Given the description of an element on the screen output the (x, y) to click on. 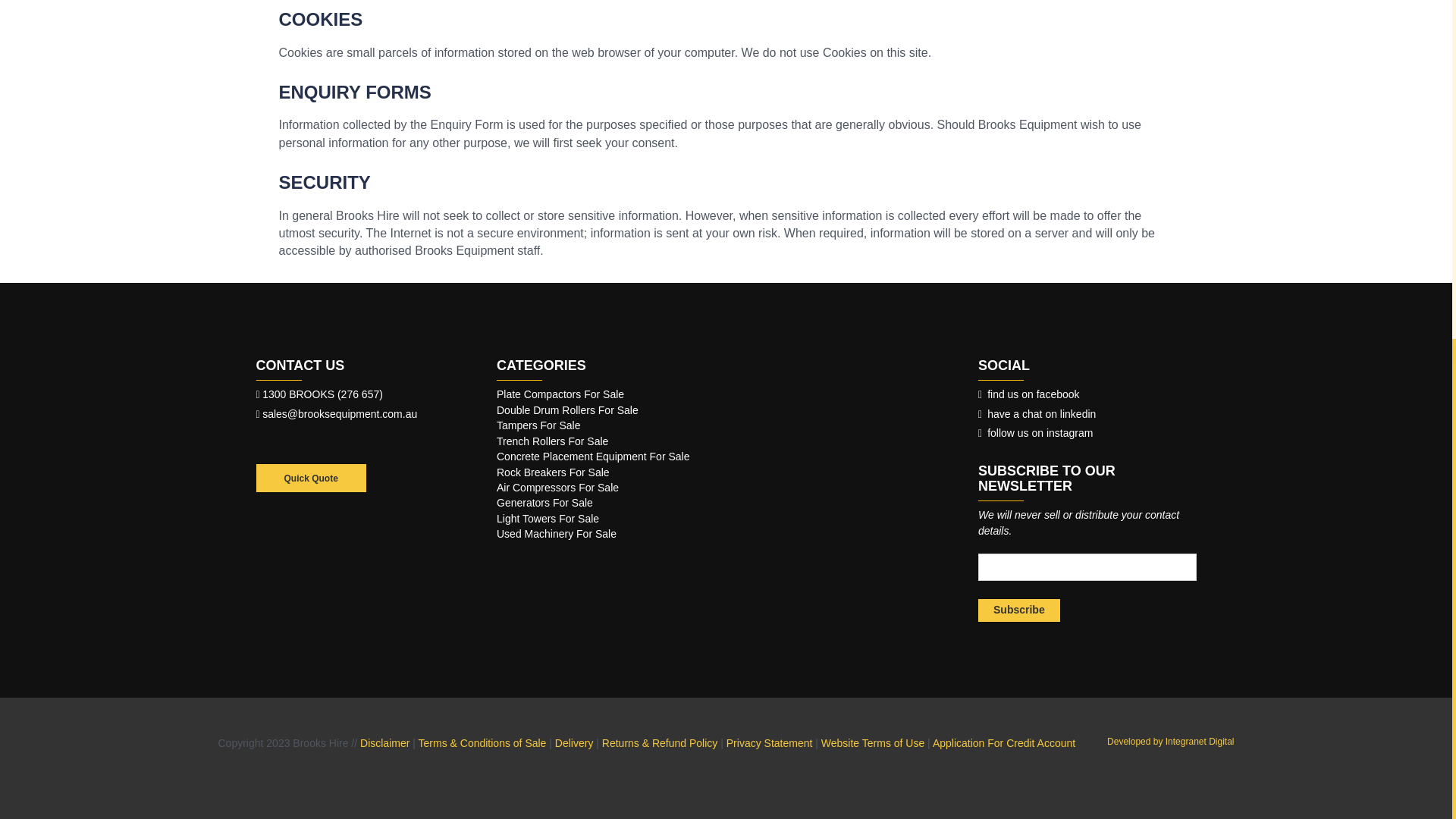
Subscribe (1018, 609)
Integranet Digital (1169, 741)
